Given the description of an element on the screen output the (x, y) to click on. 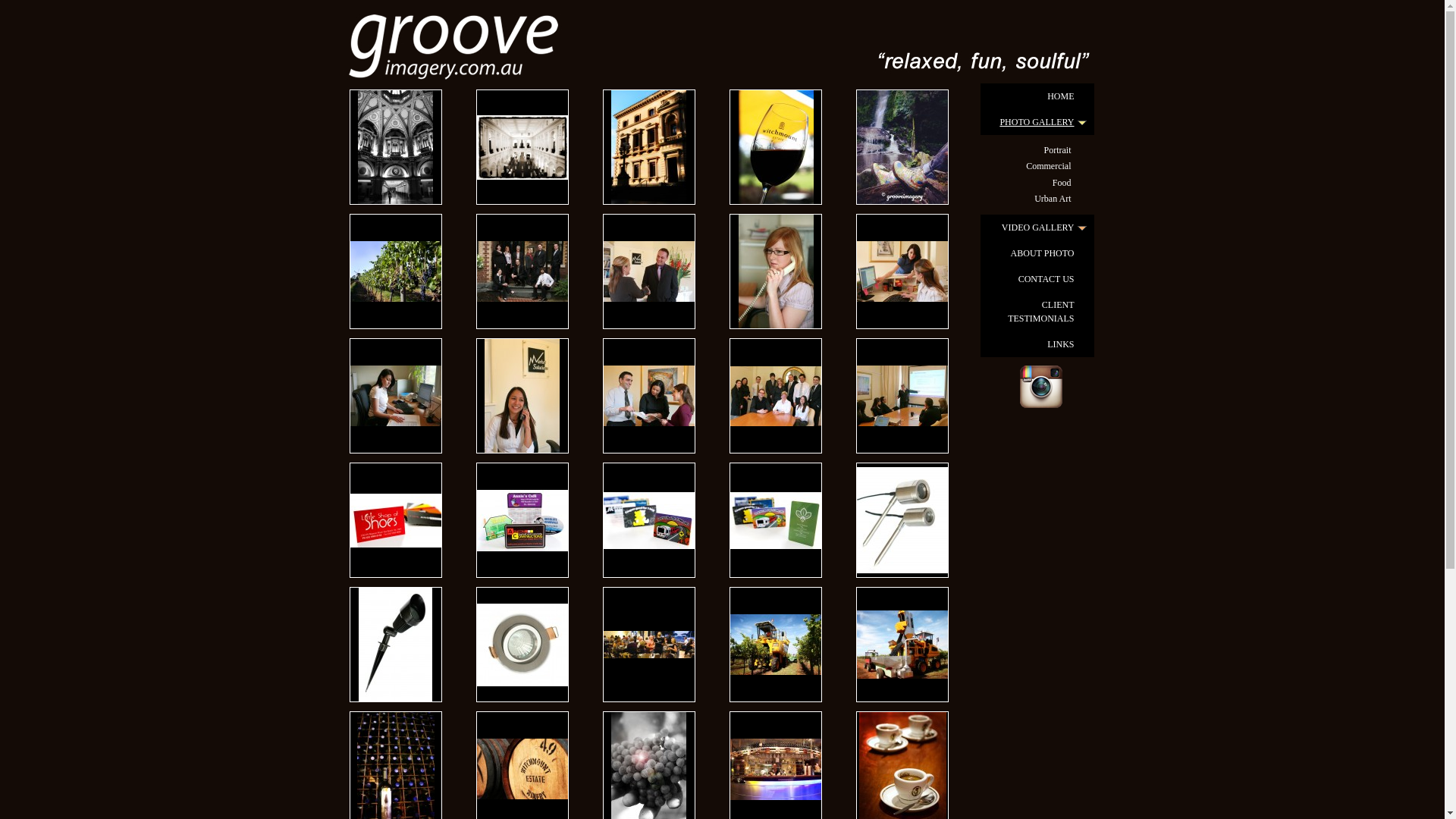
Food Element type: text (1037, 183)
LINKS Element type: text (1036, 344)
VIDEO GALLERY Element type: text (1036, 227)
CONTACT US Element type: text (1036, 278)
Commercial Element type: text (1037, 166)
ABOUT PHOTO Element type: text (1036, 253)
PHOTO GALLERY Element type: text (1036, 121)
Portrait Element type: text (1037, 150)
Urban Art Element type: text (1037, 199)
HOME Element type: text (1036, 96)
CLIENT TESTIMONIALS Element type: text (1036, 310)
